Given the description of an element on the screen output the (x, y) to click on. 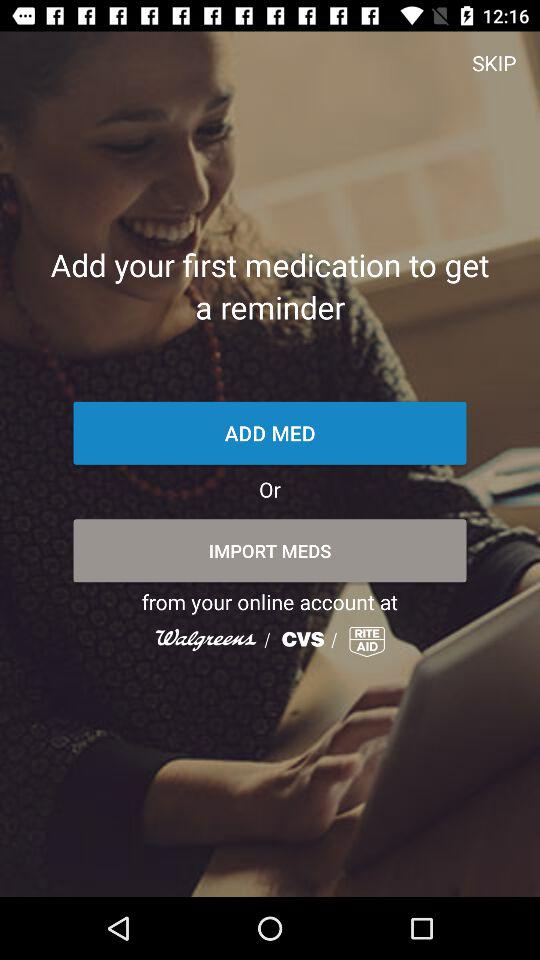
choose the icon above or item (269, 432)
